Given the description of an element on the screen output the (x, y) to click on. 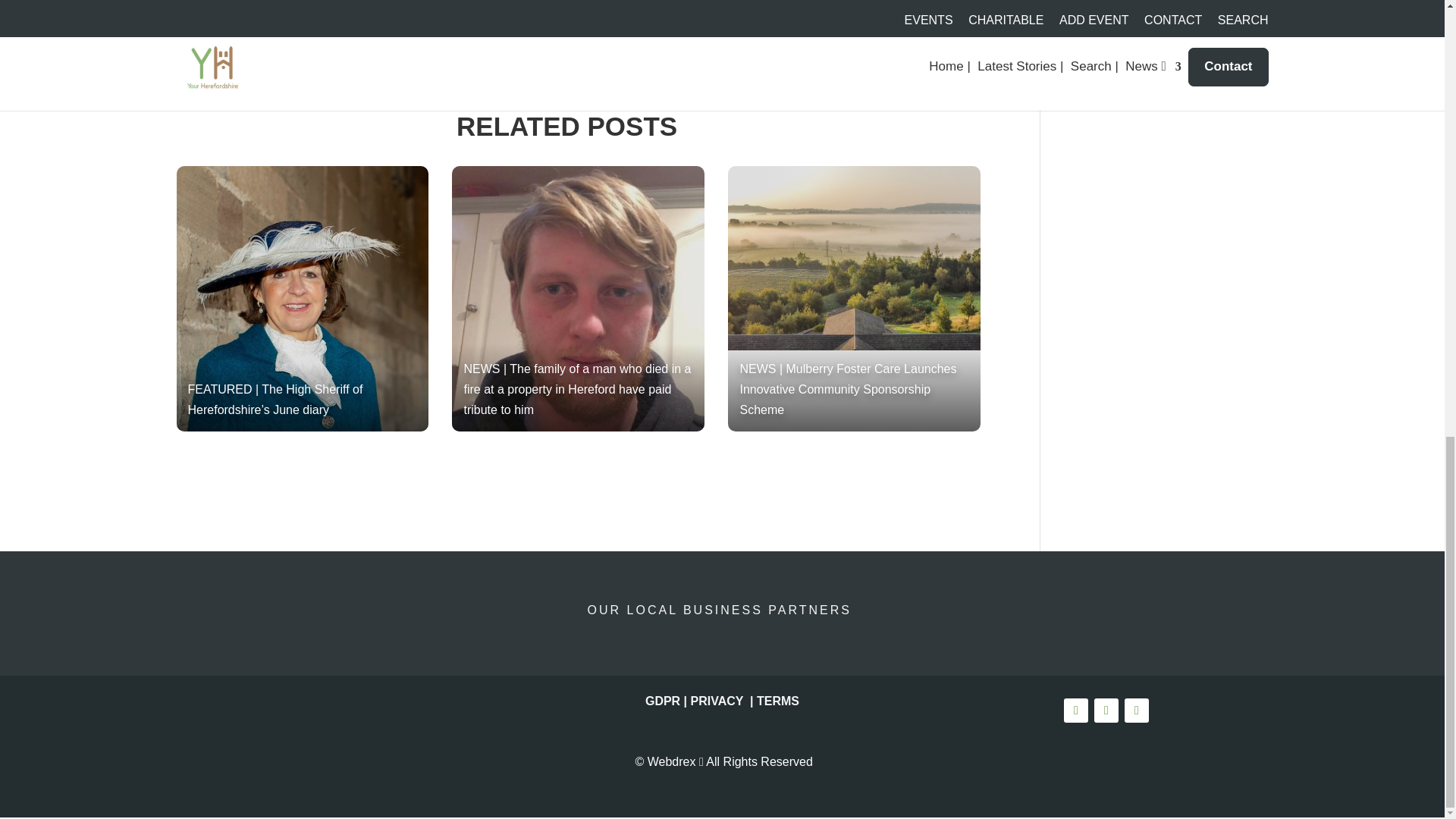
Follow on X (1106, 710)
Follow on Facebook (1075, 710)
Follow on Instagram (1136, 710)
